Given the description of an element on the screen output the (x, y) to click on. 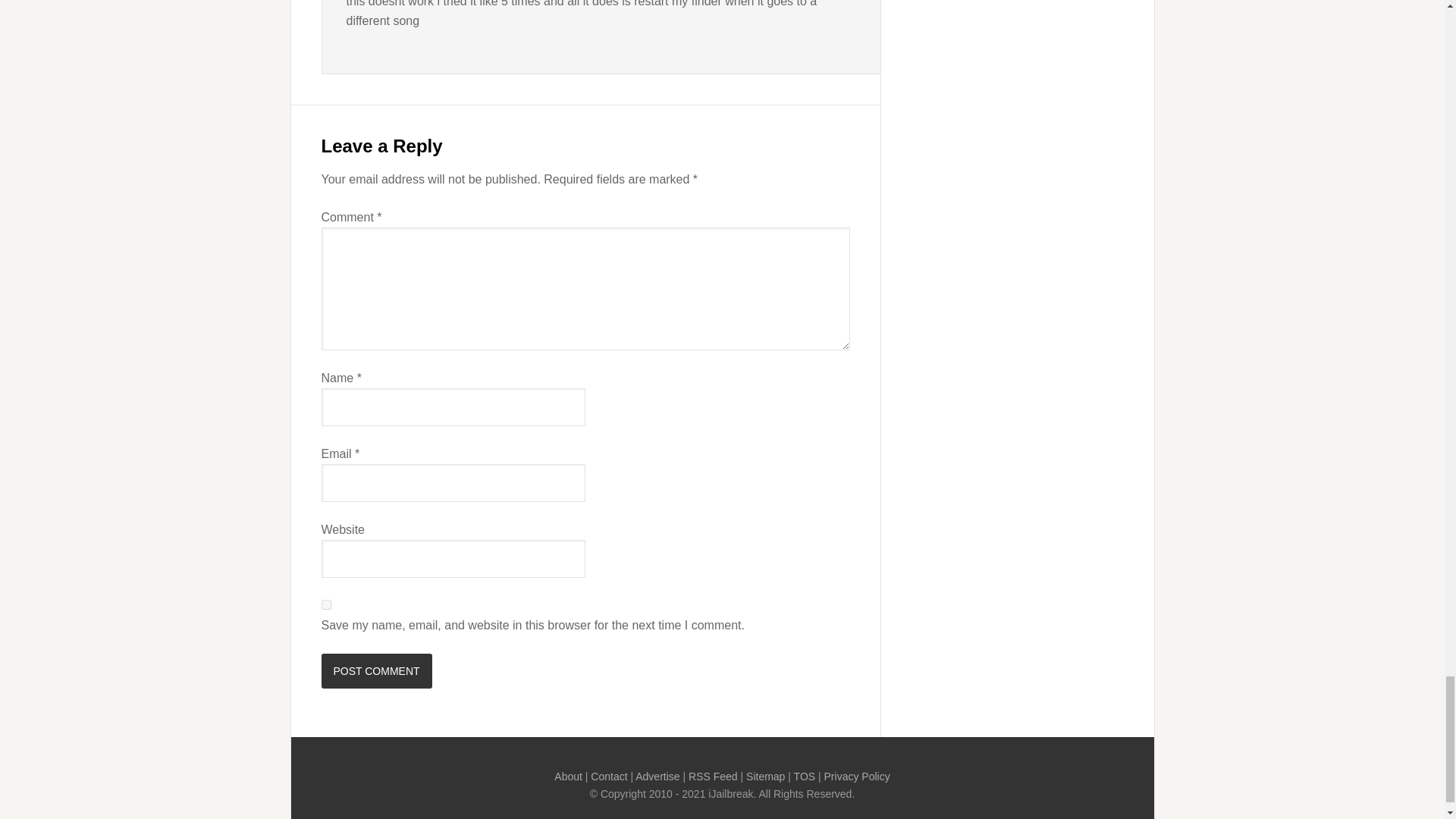
yes (326, 604)
Post Comment (376, 670)
